Given the description of an element on the screen output the (x, y) to click on. 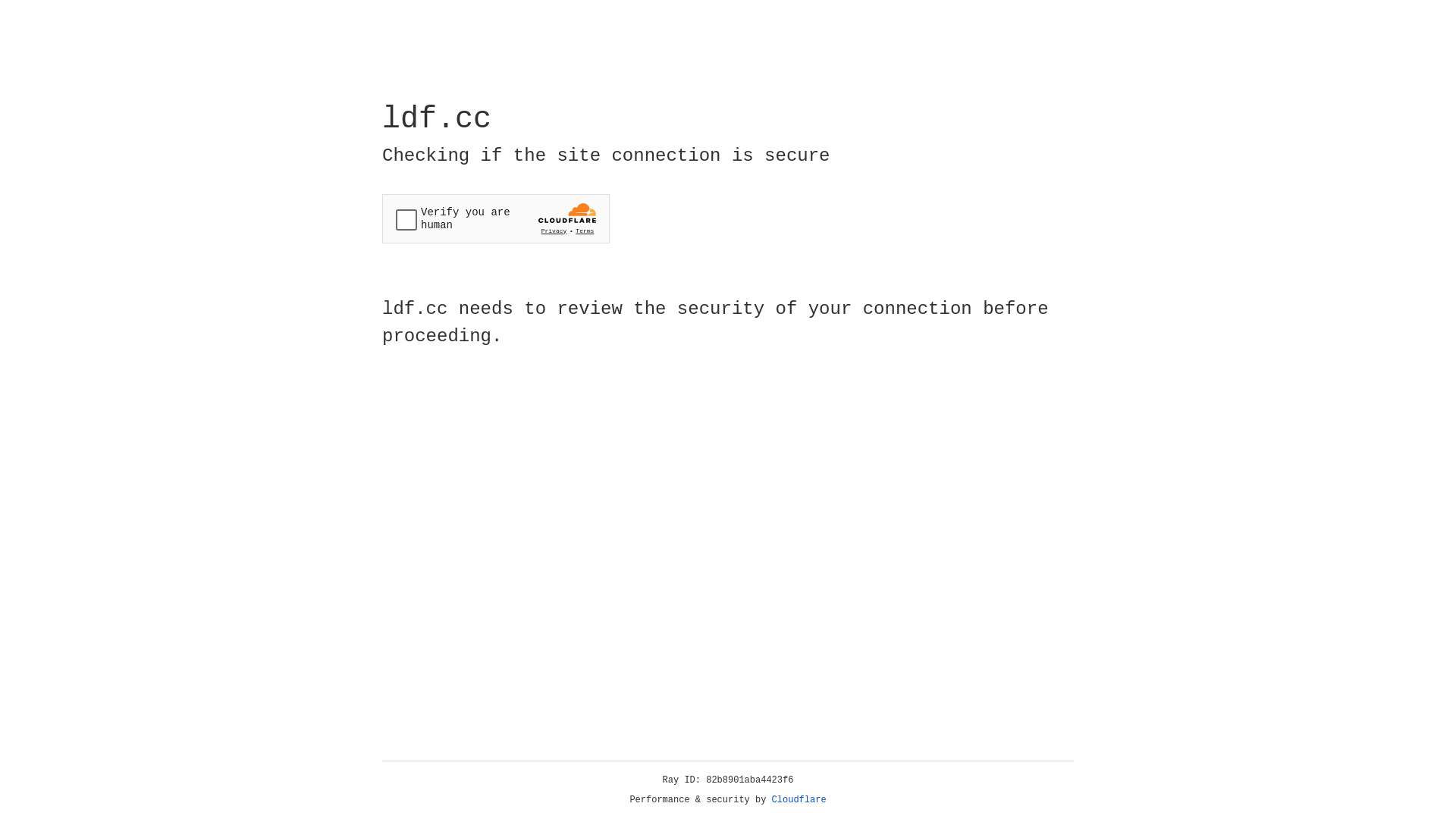
Cloudflare Element type: text (798, 799)
Widget containing a Cloudflare security challenge Element type: hover (495, 218)
